Given the description of an element on the screen output the (x, y) to click on. 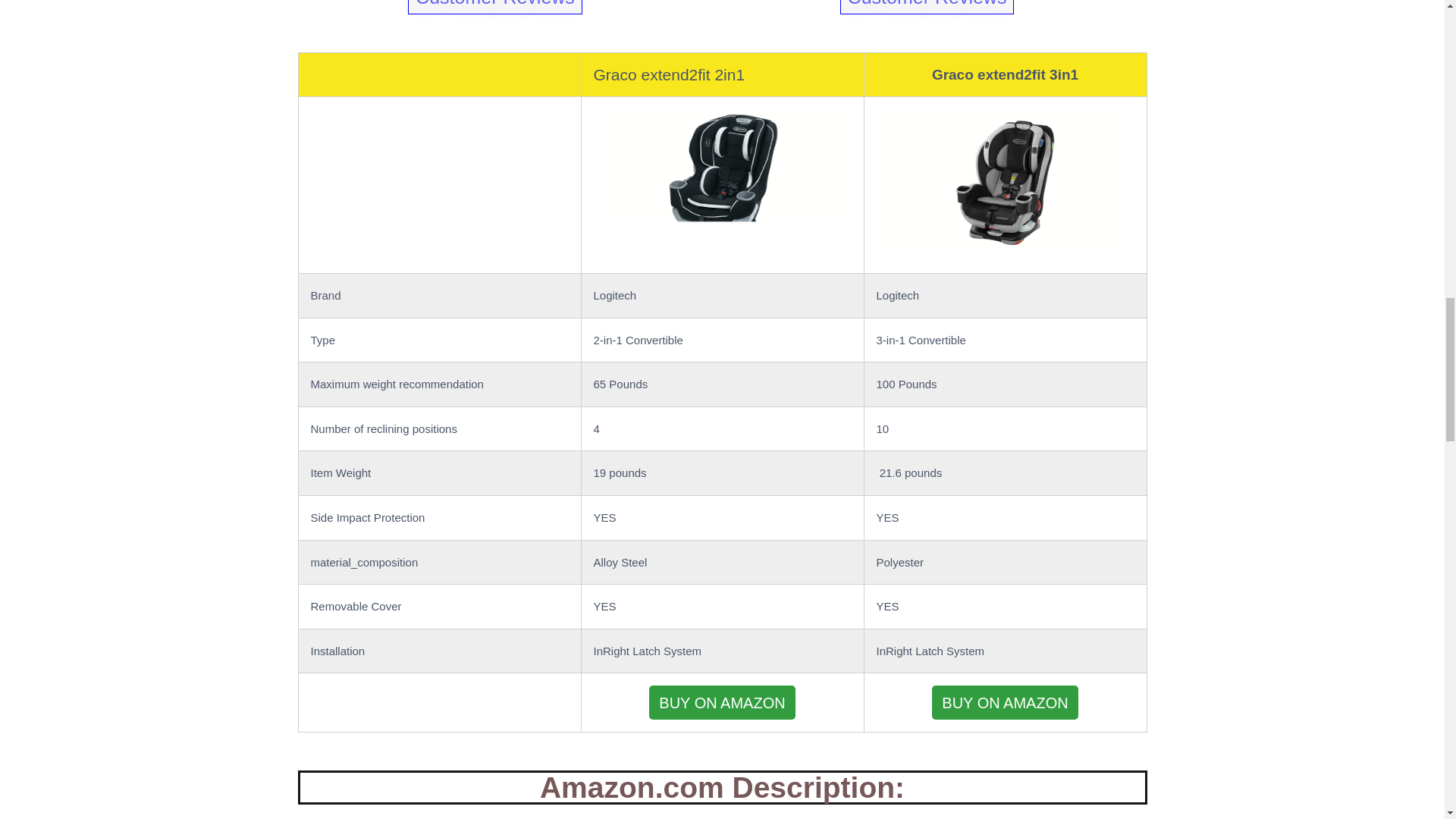
Customer Reviews (494, 7)
BUY ON AMAZON (722, 702)
BUY ON AMAZON (1004, 702)
Customer Reviews (927, 7)
